Given the description of an element on the screen output the (x, y) to click on. 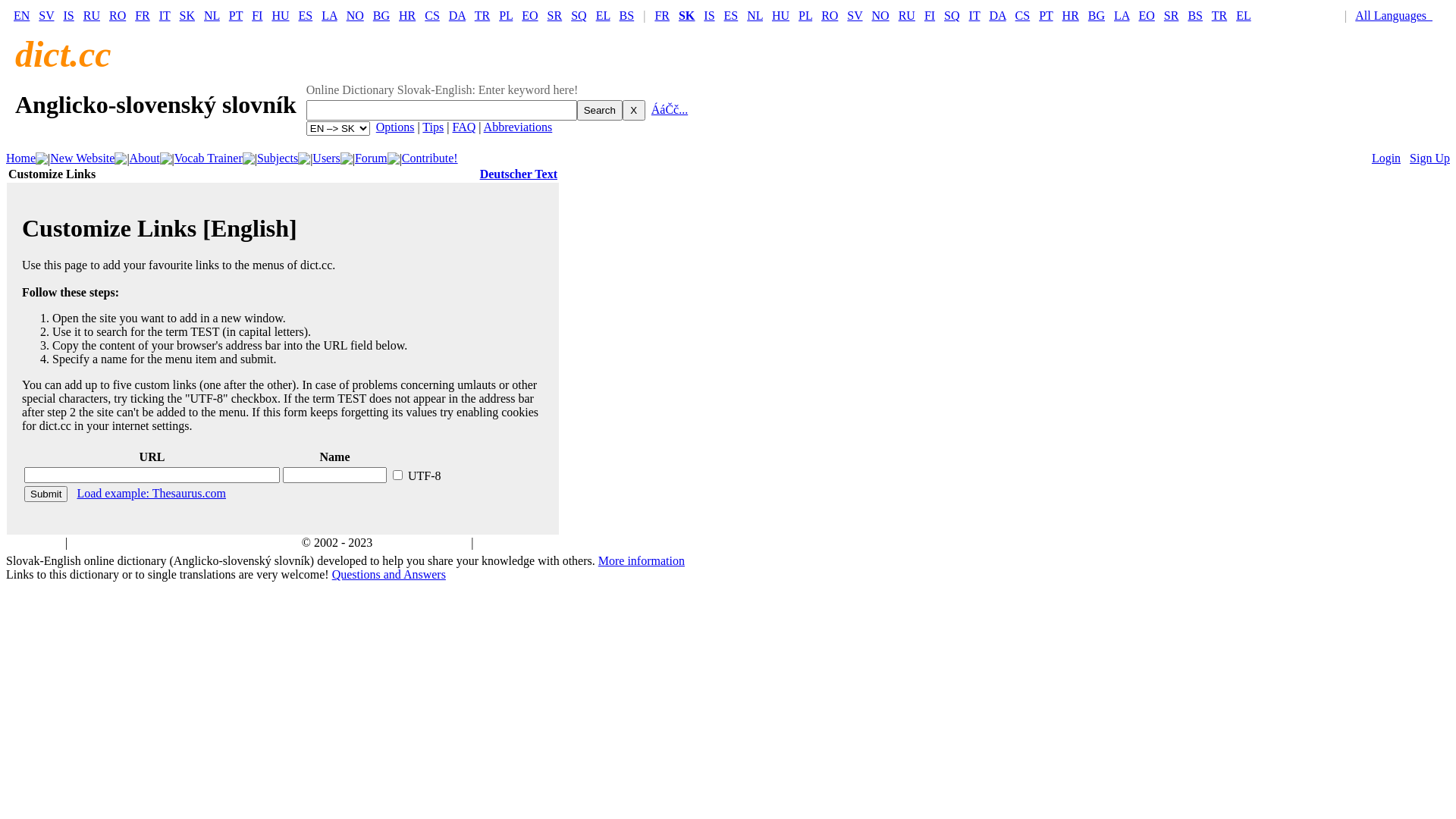
SR Element type: text (1171, 15)
Load example: Thesaurus.com Element type: text (150, 492)
BG Element type: text (381, 15)
Abbreviations Element type: text (517, 126)
Vocab Trainer Element type: text (208, 157)
Options Element type: text (395, 126)
About Element type: text (144, 157)
BG Element type: text (1096, 15)
Contribute! Element type: text (429, 157)
FR Element type: text (661, 15)
Login Element type: text (1385, 157)
FR Element type: text (142, 15)
contact / privacy Element type: text (516, 542)
Forum Element type: text (370, 157)
PT Element type: text (1045, 15)
FI Element type: text (256, 15)
PL Element type: text (805, 15)
IS Element type: text (68, 15)
CS Element type: text (1022, 15)
DA Element type: text (996, 15)
NO Element type: text (355, 15)
Tips Element type: text (432, 126)
BS Element type: text (1194, 15)
ES Element type: text (731, 15)
IT Element type: text (974, 15)
X Element type: text (633, 110)
CS Element type: text (431, 15)
All Languages  Element type: text (1397, 15)
SV Element type: text (854, 15)
LA Element type: text (1121, 15)
Users Element type: text (325, 157)
NL Element type: text (211, 15)
Home Element type: text (20, 157)
Subjects Element type: text (277, 157)
IT Element type: text (164, 15)
HR Element type: text (406, 15)
EN Element type: text (21, 15)
SR Element type: text (554, 15)
Submit Element type: text (45, 494)
TR Element type: text (481, 15)
Deutscher Text Element type: text (518, 173)
FI Element type: text (929, 15)
LA Element type: text (328, 15)
More information Element type: text (641, 560)
SV Element type: text (45, 15)
NL Element type: text (754, 15)
Paul Hemetsberger Element type: text (421, 542)
Sign Up Element type: text (1429, 157)
RO Element type: text (829, 15)
BS Element type: text (626, 15)
HR Element type: text (1070, 15)
dict.cc Element type: text (63, 54)
RU Element type: text (91, 15)
EO Element type: text (529, 15)
SQ Element type: text (951, 15)
EL Element type: text (603, 15)
HU Element type: text (780, 15)
DA Element type: text (456, 15)
EO Element type: text (1146, 15)
SK Element type: text (686, 15)
HU Element type: text (279, 15)
PL Element type: text (505, 15)
New Website Element type: text (82, 157)
PT Element type: text (235, 15)
NO Element type: text (880, 15)
Search Element type: text (599, 110)
RU Element type: text (906, 15)
FAQ Element type: text (463, 126)
SQ Element type: text (578, 15)
back to top Element type: text (35, 542)
IS Element type: text (708, 15)
ES Element type: text (305, 15)
SK Element type: text (186, 15)
Questions and Answers Element type: text (388, 573)
home Element type: text (83, 542)
EL Element type: text (1243, 15)
RO Element type: text (117, 15)
TR Element type: text (1218, 15)
